Given the description of an element on the screen output the (x, y) to click on. 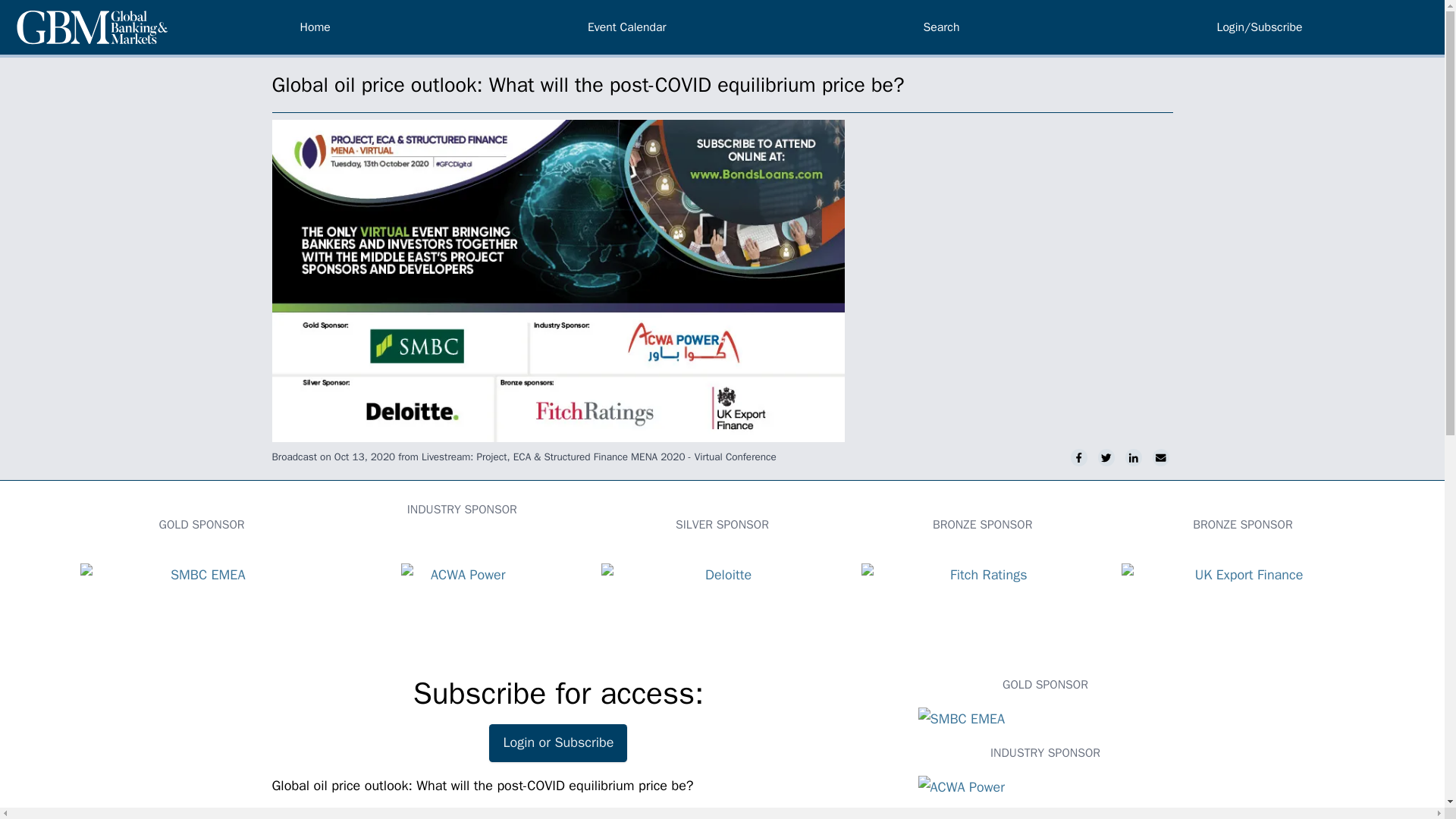
Fitch Ratings (982, 601)
UK Export Finance (1242, 601)
SMBC EMEA (201, 601)
Share this article on Facebook (1080, 457)
ACWA Power (1044, 787)
Search (940, 26)
Home (314, 26)
Deloitte (722, 601)
SMBC EMEA (1044, 719)
Share this article on LinkedIn (1135, 457)
